Given the description of an element on the screen output the (x, y) to click on. 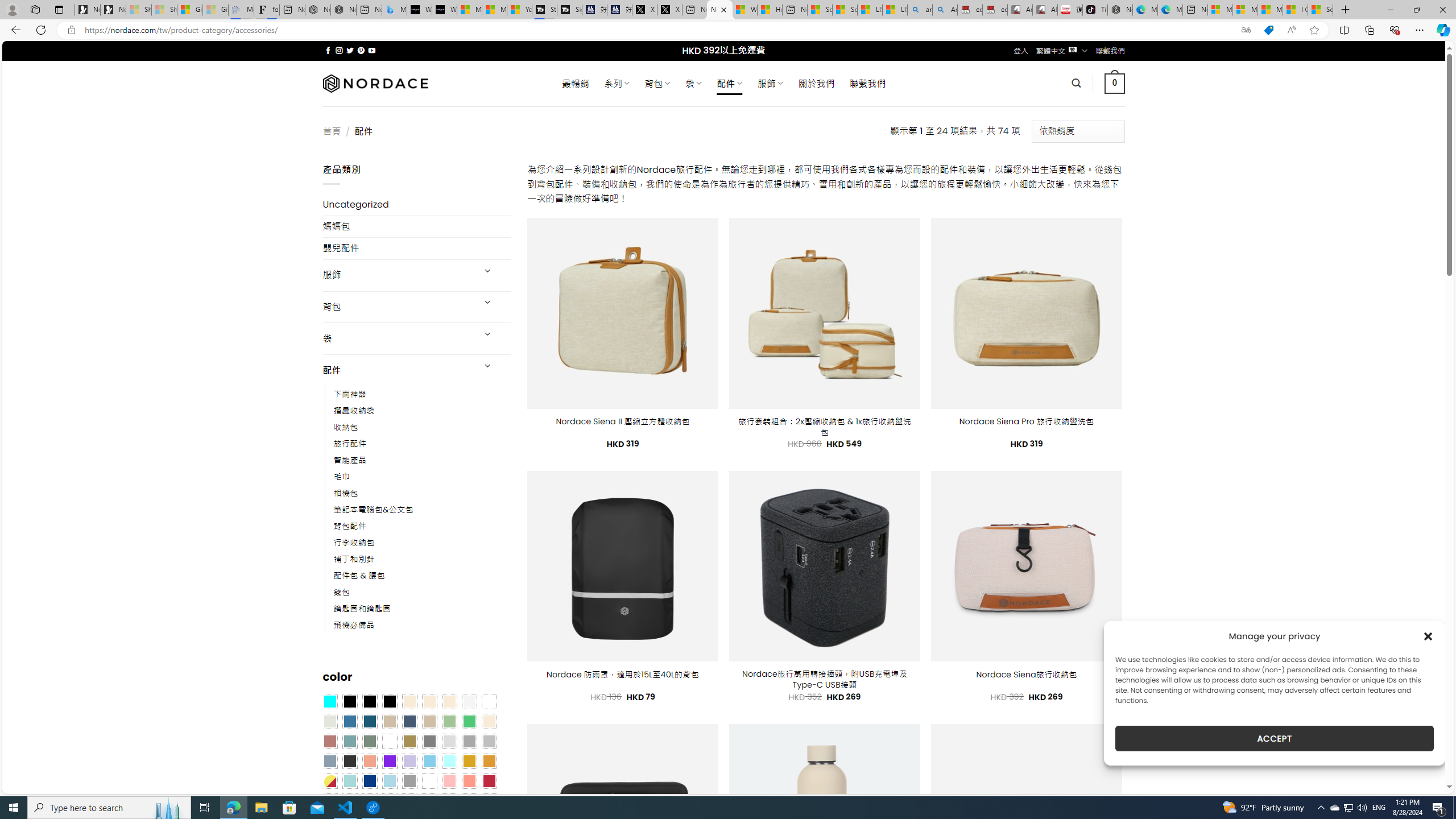
Show translate options (1245, 29)
